Given the description of an element on the screen output the (x, y) to click on. 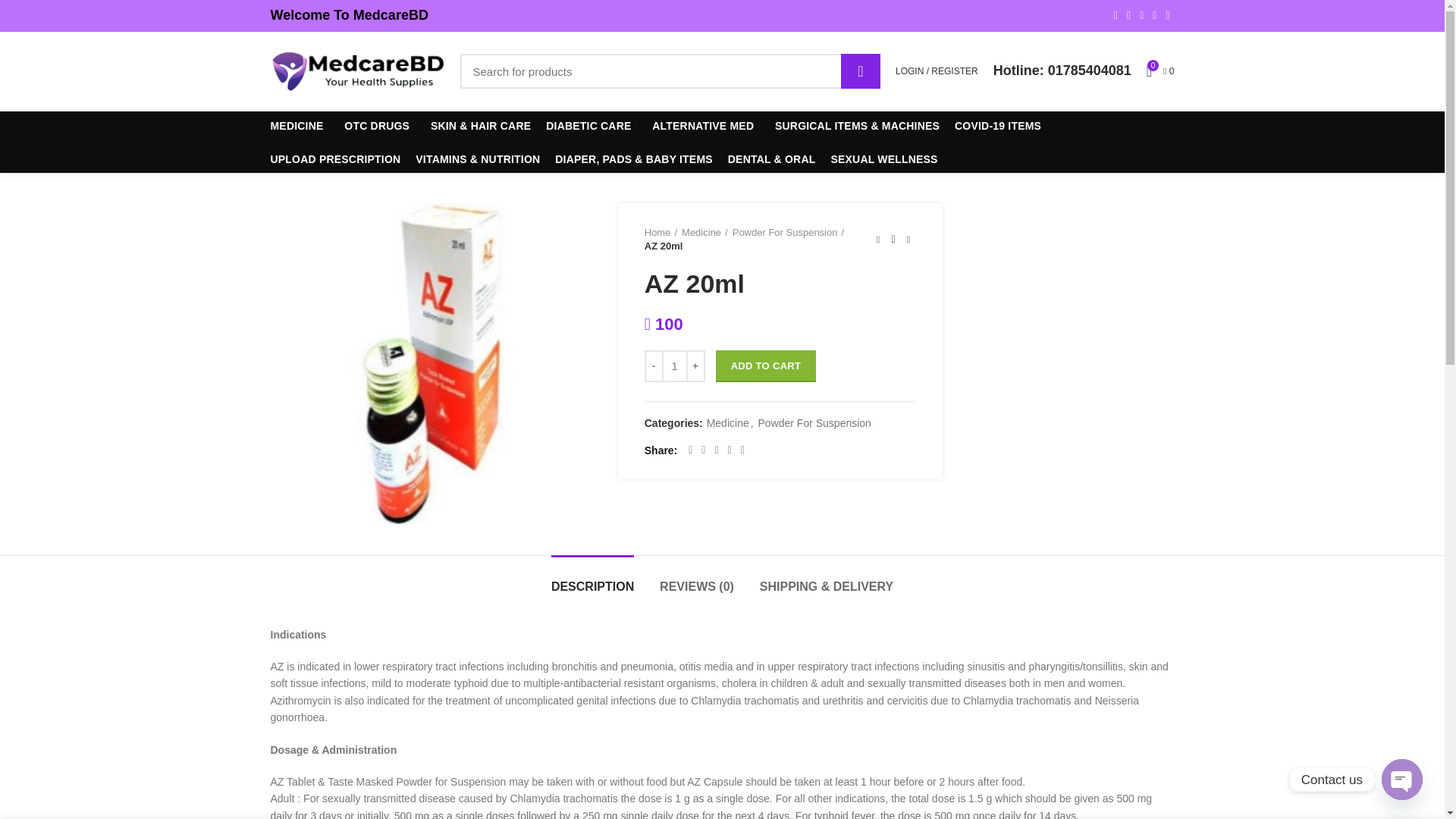
MEDICINE (299, 125)
Shopping cart (1160, 71)
My account (936, 71)
AZ-20ml AZ-20ml AZ-20ml (431, 363)
SEARCH (860, 71)
Log in (852, 296)
